Given the description of an element on the screen output the (x, y) to click on. 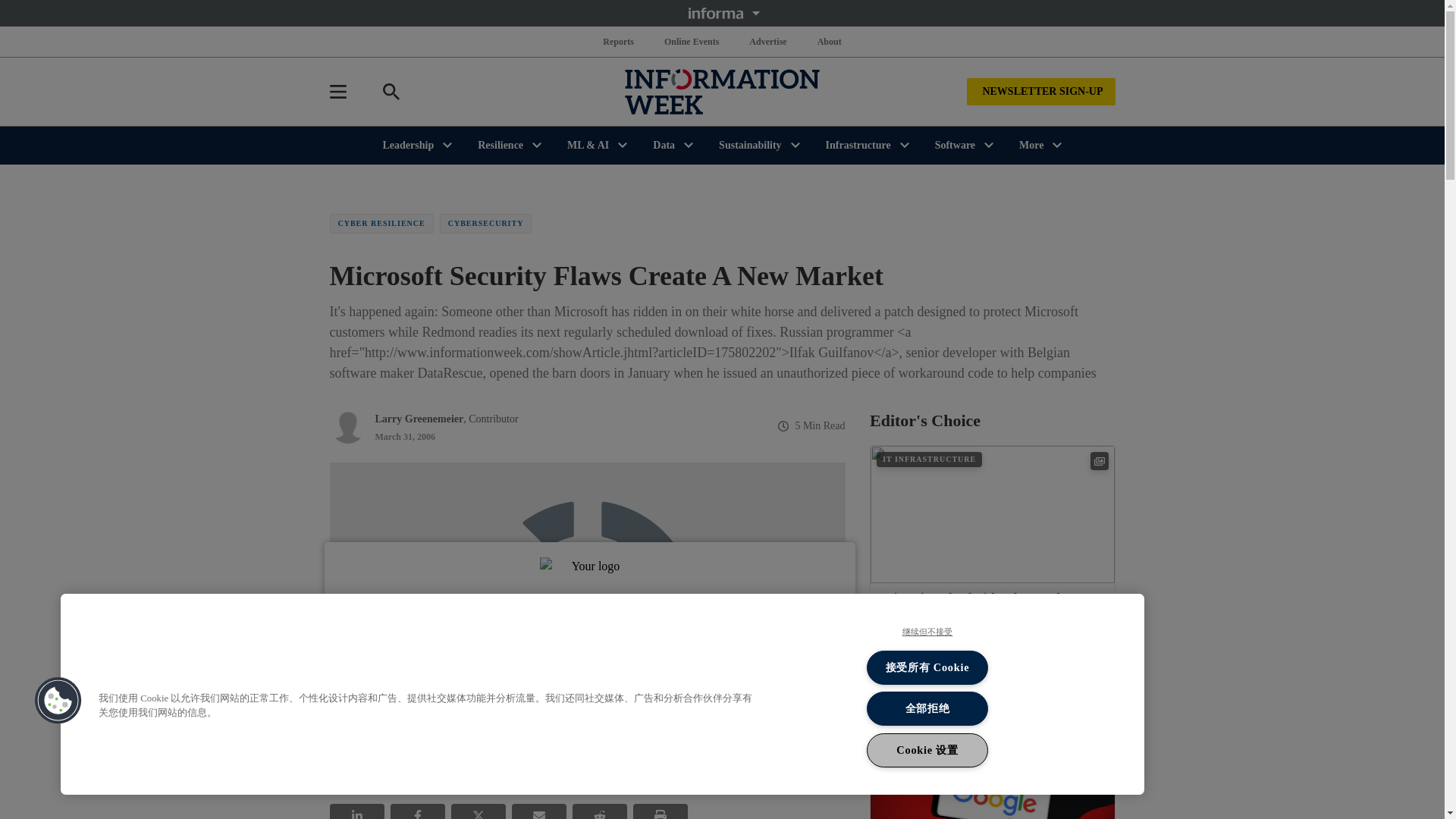
InformationWeek (722, 91)
Online Events (691, 41)
NEWSLETTER SIGN-UP (1040, 90)
Advertise (767, 41)
Reports (618, 41)
Picture of Larry Greenemeier (347, 425)
About (828, 41)
Cookies Button (57, 700)
